Given the description of an element on the screen output the (x, y) to click on. 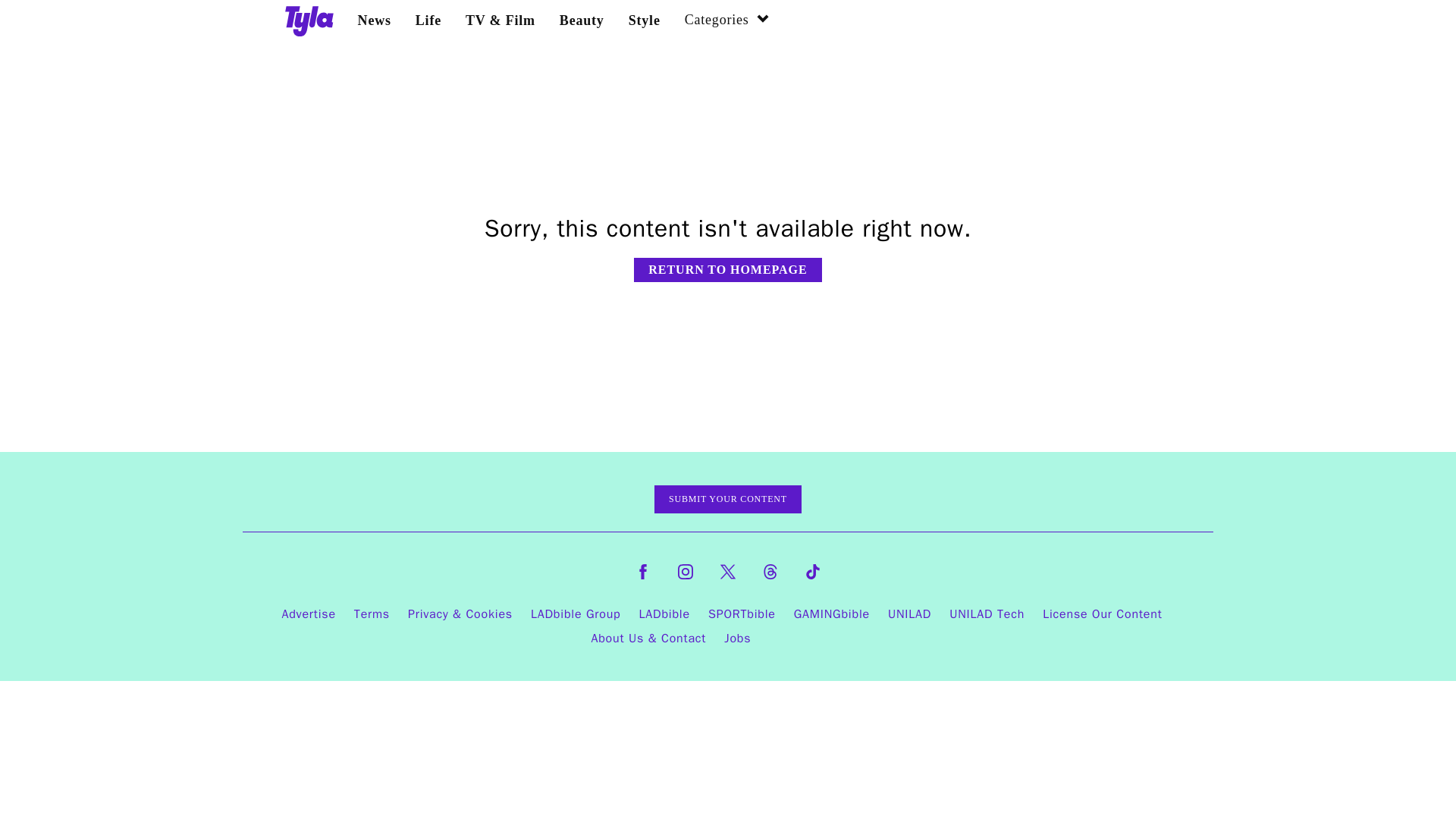
Beauty (581, 20)
Categories (727, 21)
